Given the description of an element on the screen output the (x, y) to click on. 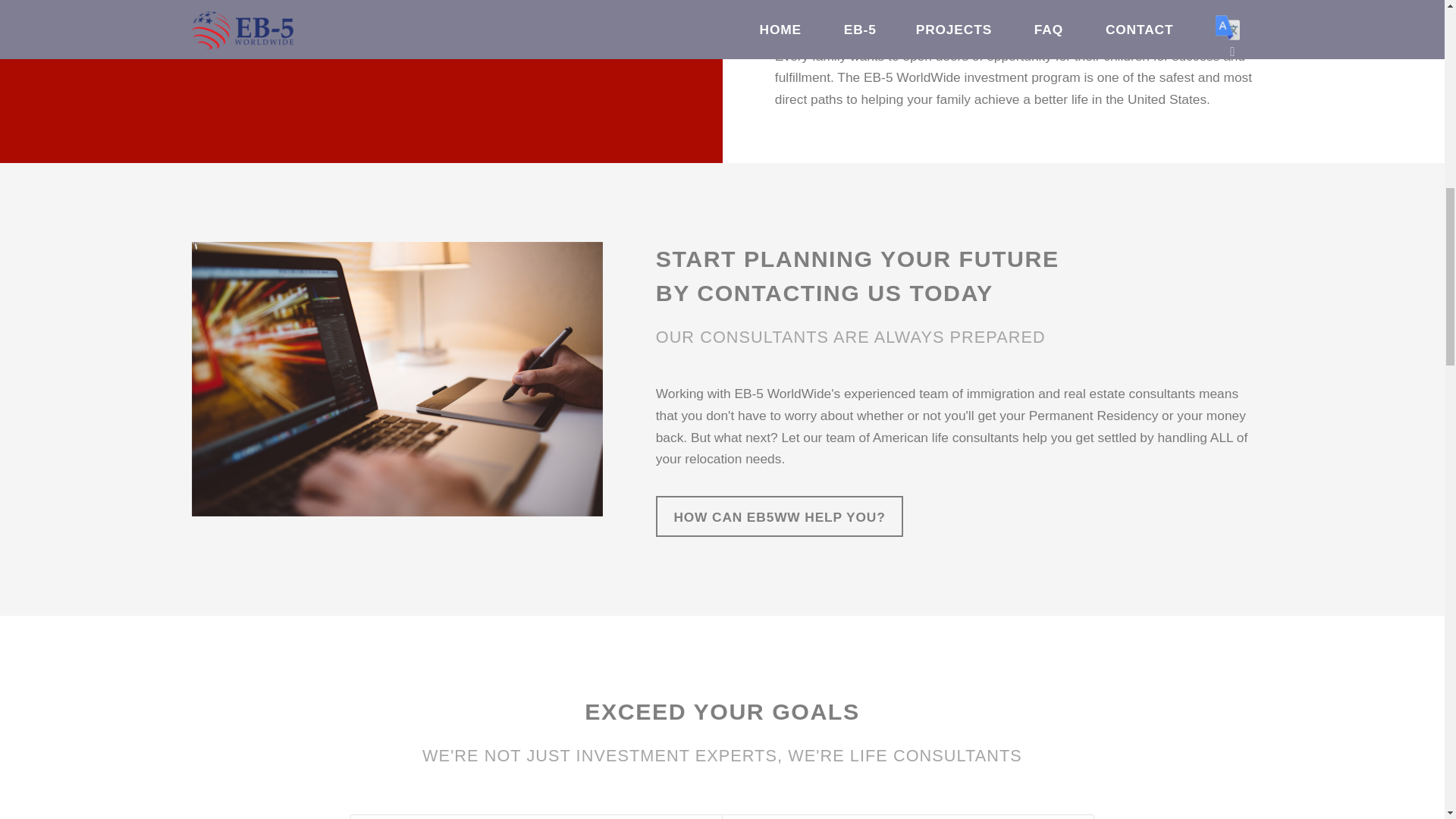
EB5WW'S HISTORY (274, 15)
HOW CAN EB5WW HELP YOU? (780, 516)
